Given the description of an element on the screen output the (x, y) to click on. 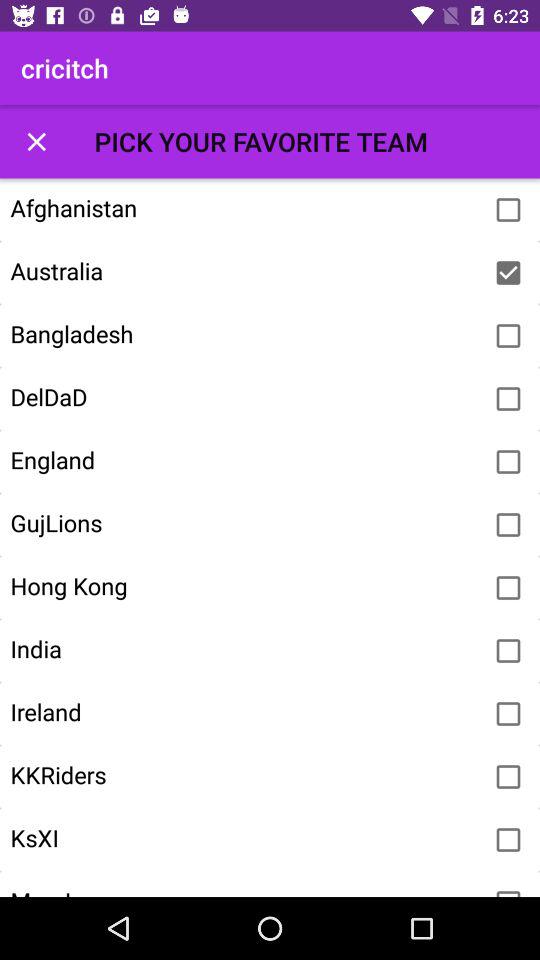
pick ksxi (508, 840)
